Given the description of an element on the screen output the (x, y) to click on. 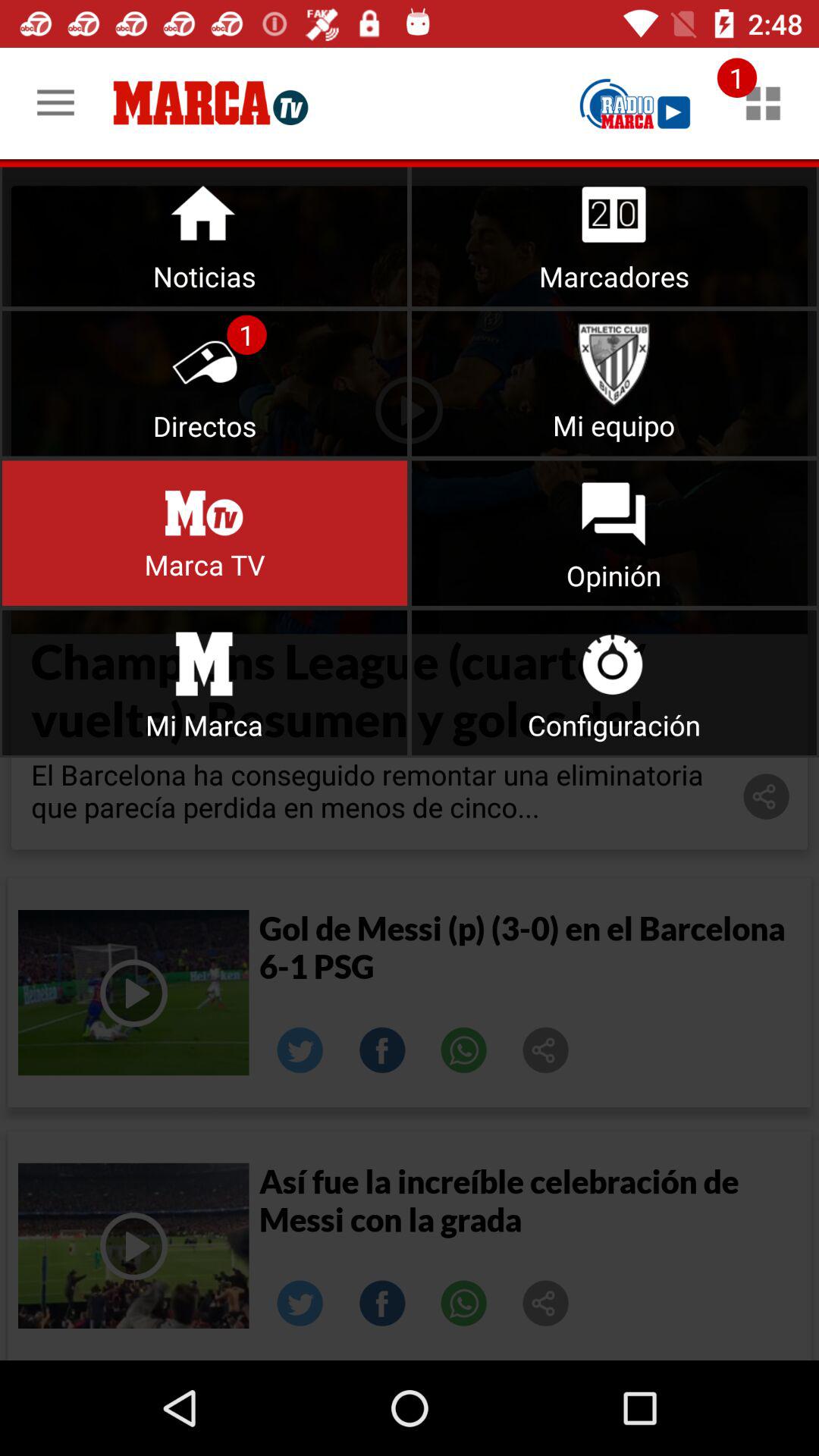
share the article (545, 1303)
